Given the description of an element on the screen output the (x, y) to click on. 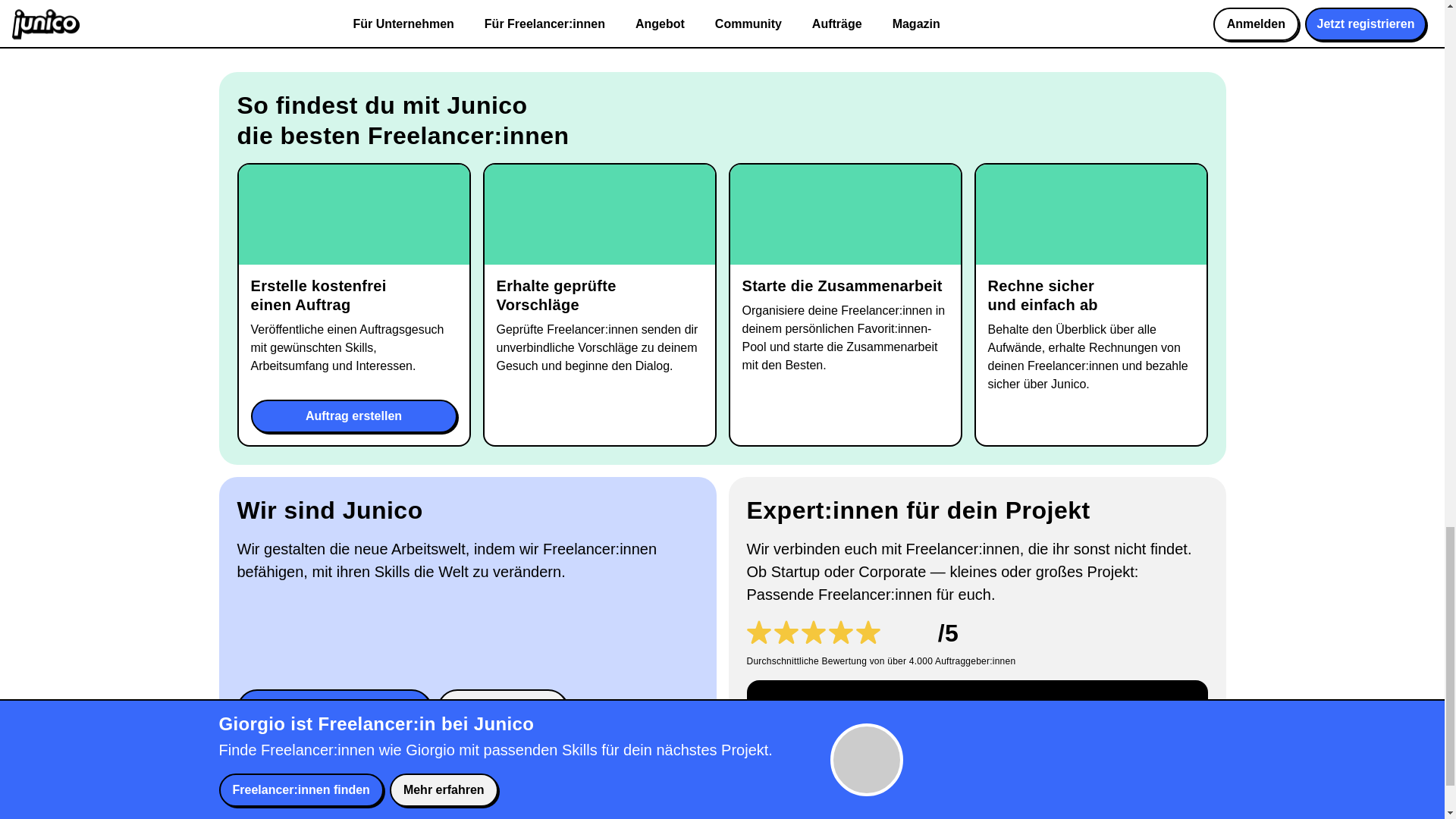
Freelancer:innen finden (332, 708)
Mehr erfahren (502, 708)
Auftrag erstellen (353, 416)
